Given the description of an element on the screen output the (x, y) to click on. 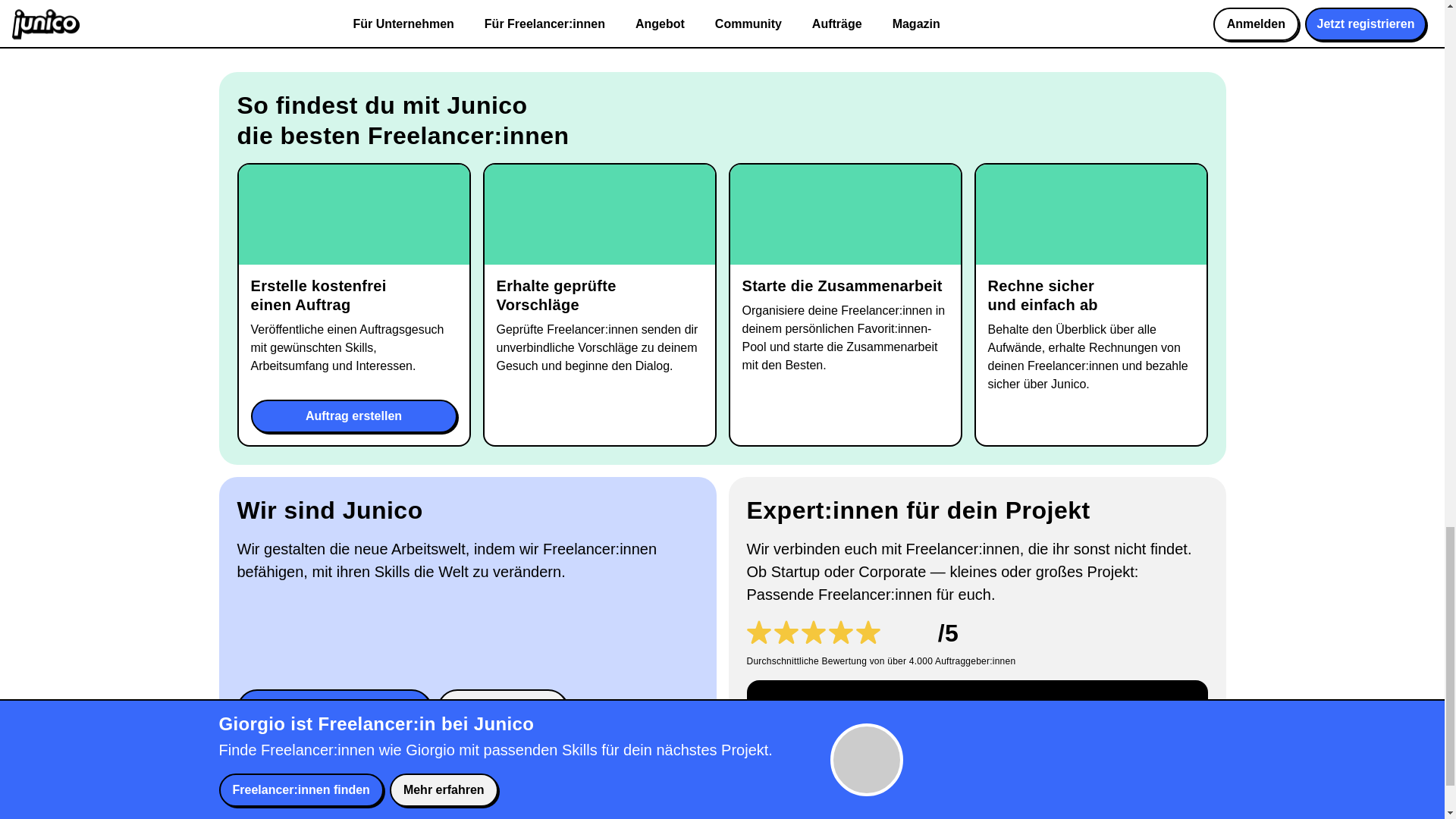
Freelancer:innen finden (332, 708)
Mehr erfahren (502, 708)
Auftrag erstellen (353, 416)
